Given the description of an element on the screen output the (x, y) to click on. 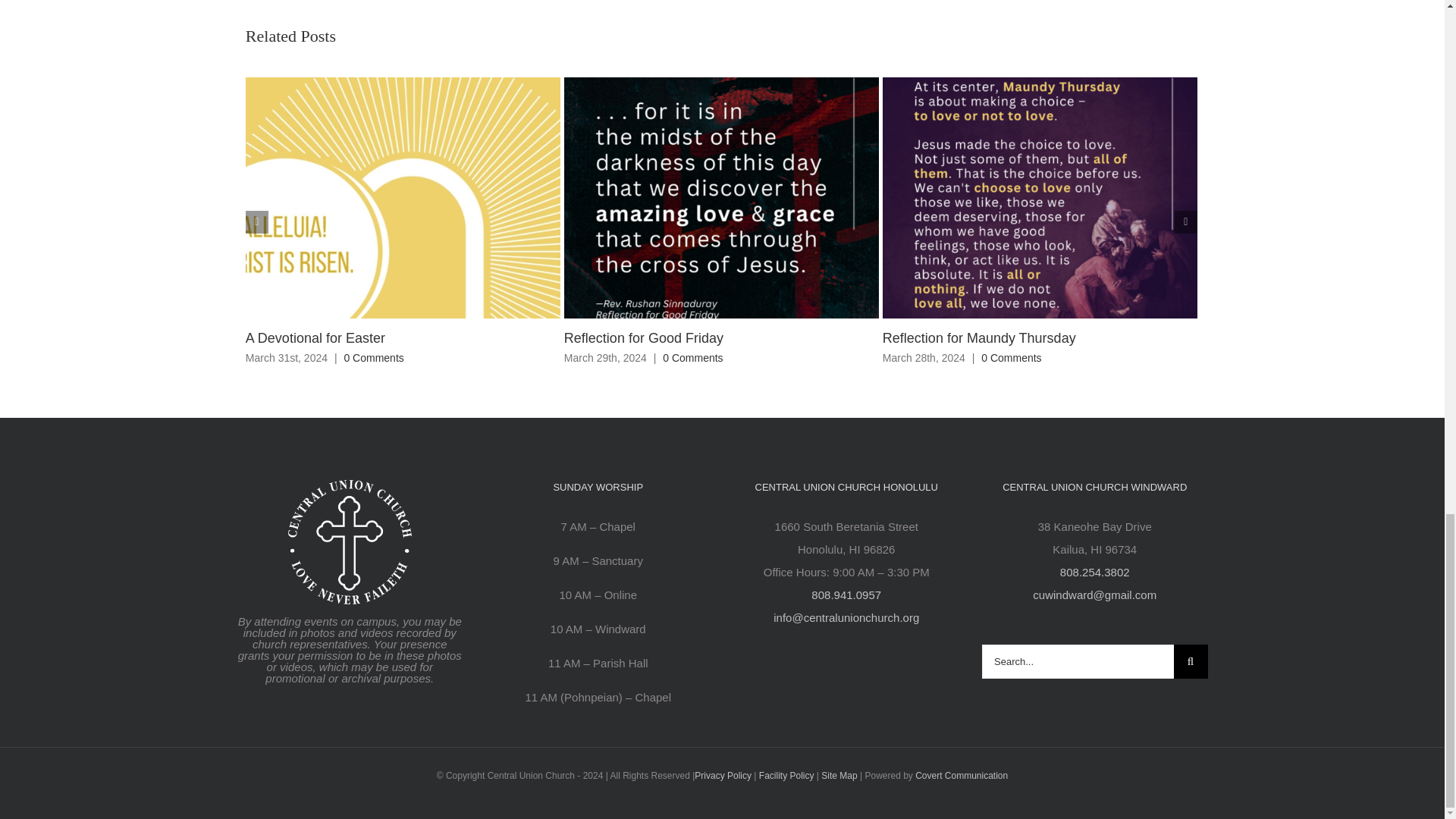
Reflection for Good Friday (643, 337)
Reflection for Maundy Thursday (978, 337)
A Devotional for Easter (315, 337)
